Given the description of an element on the screen output the (x, y) to click on. 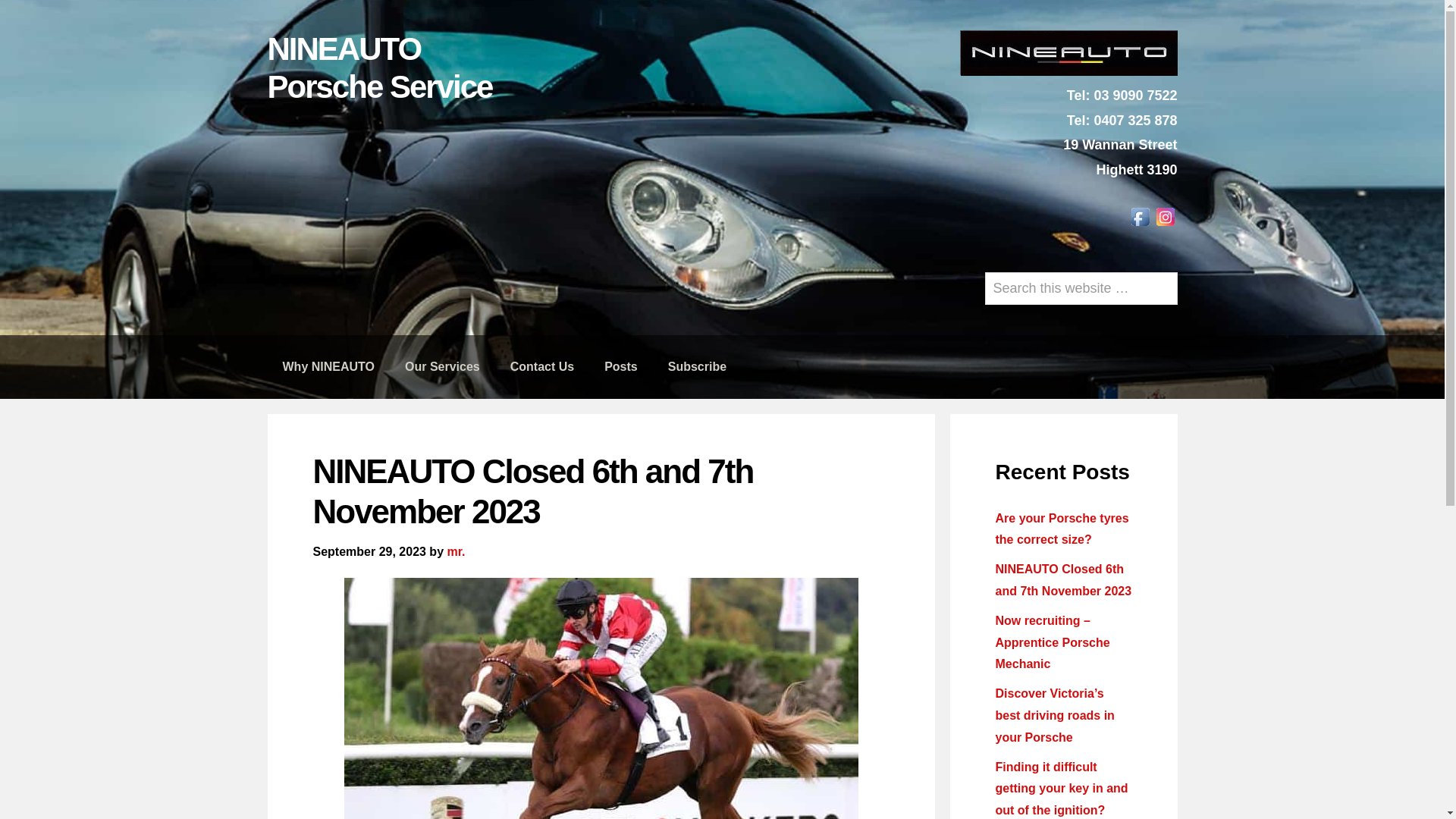
Visit Us On Facebook Element type: hover (1138, 224)
NINEAUTO Closed 6th and 7th November 2023 Element type: text (1062, 579)
Search Element type: text (1176, 271)
Tel: 03 9090 7522 Element type: text (1121, 95)
Why NINEAUTO Element type: text (327, 366)
19 Wannan Street
Highett 3190 Element type: text (1119, 156)
Visit Us On Instagram Element type: hover (1164, 224)
Our Services Element type: text (442, 366)
Skip to content Element type: text (0, 0)
Are your Porsche tyres the correct size? Element type: text (1061, 528)
Tel: 0407 325 878 Element type: text (1121, 120)
mr. Element type: text (455, 551)
Contact Us Element type: text (542, 366)
Posts Element type: text (620, 366)
NINEAUTO Porsche Service Element type: text (379, 67)
Subscribe Element type: text (696, 366)
